Given the description of an element on the screen output the (x, y) to click on. 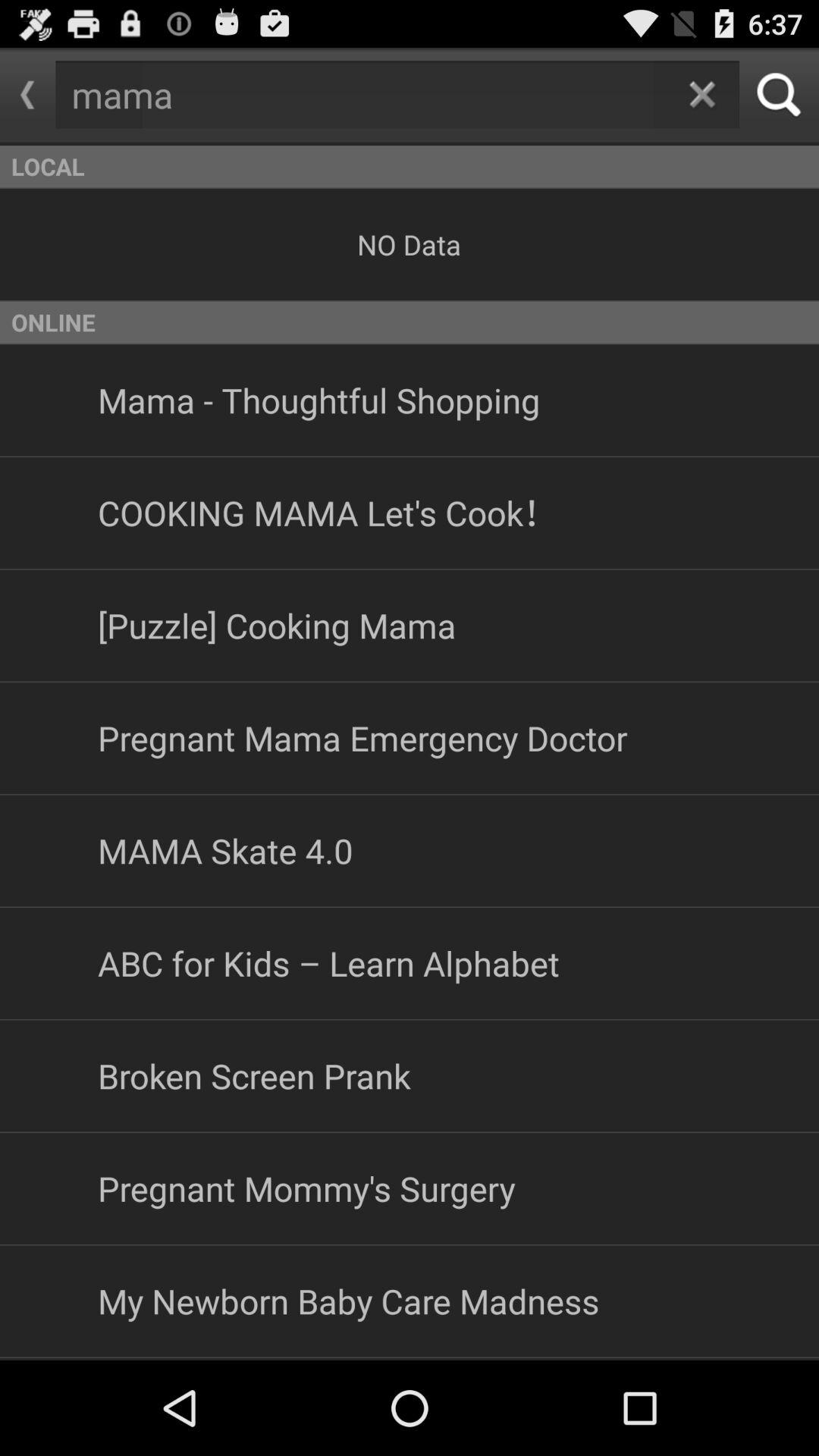
press icon next to the mama icon (27, 94)
